Given the description of an element on the screen output the (x, y) to click on. 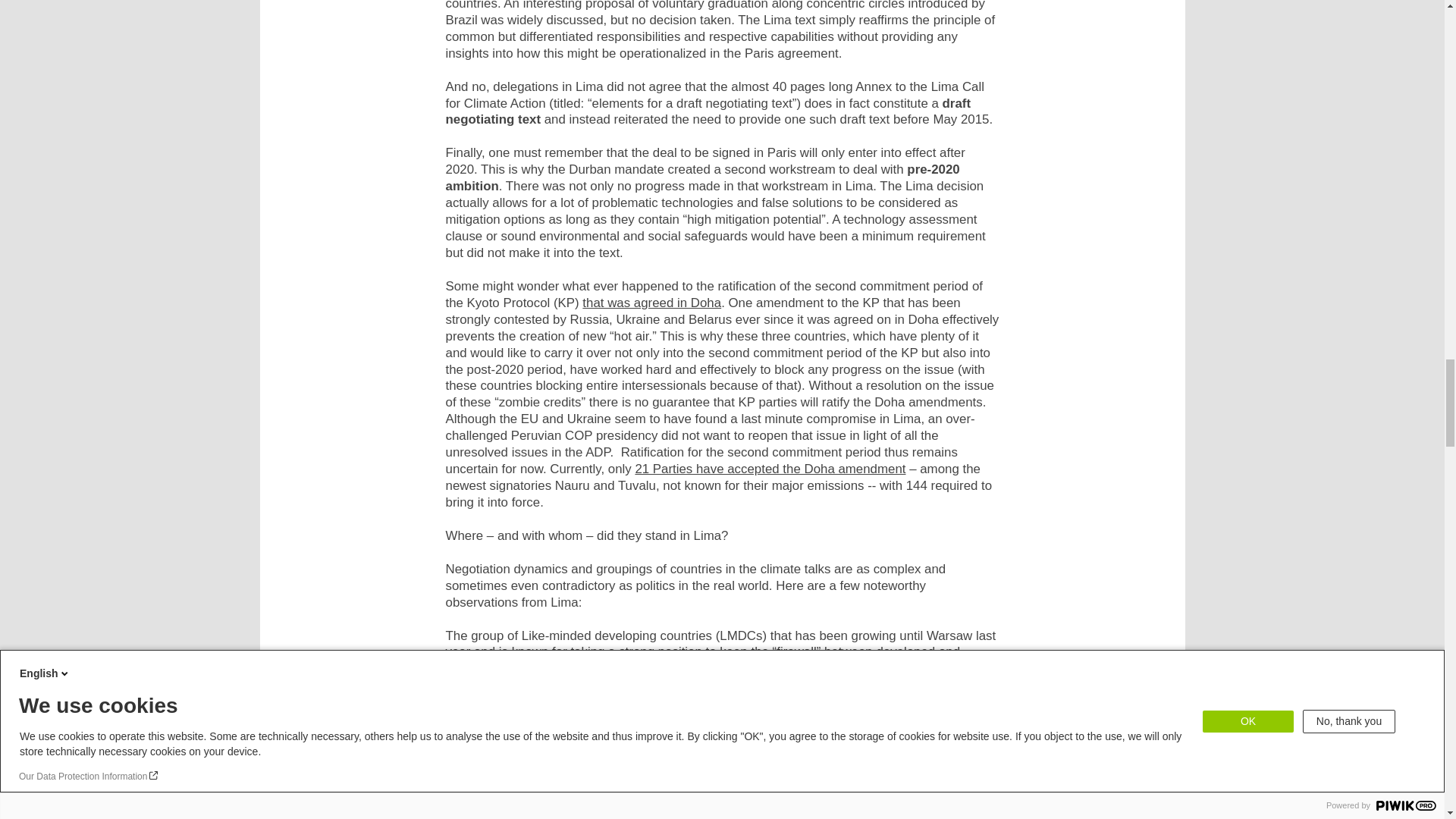
that was agreed in Doha (651, 302)
21 Parties have accepted the Doha amendment (769, 468)
